Given the description of an element on the screen output the (x, y) to click on. 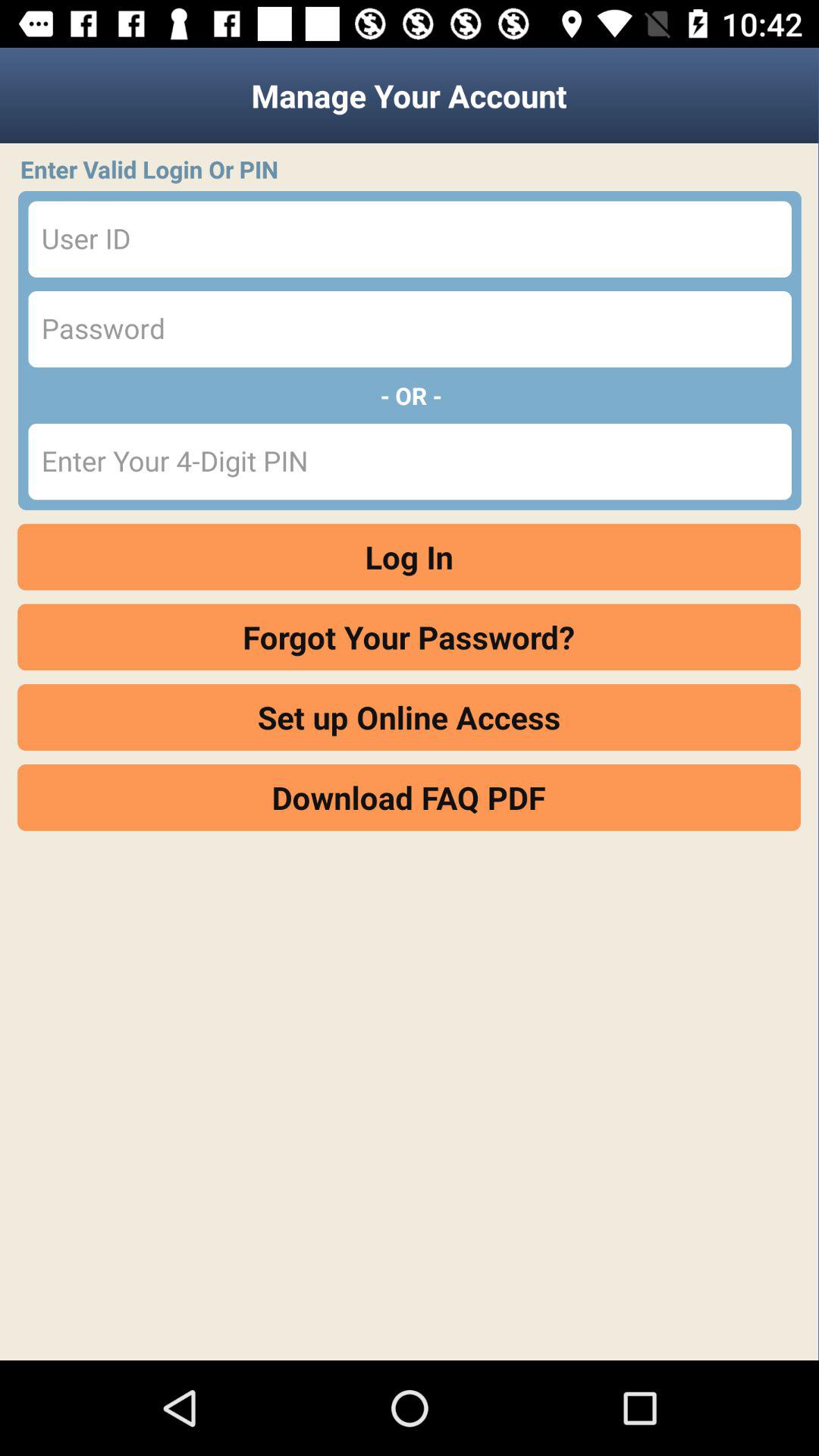
open the icon above the enter valid login icon (409, 95)
